Given the description of an element on the screen output the (x, y) to click on. 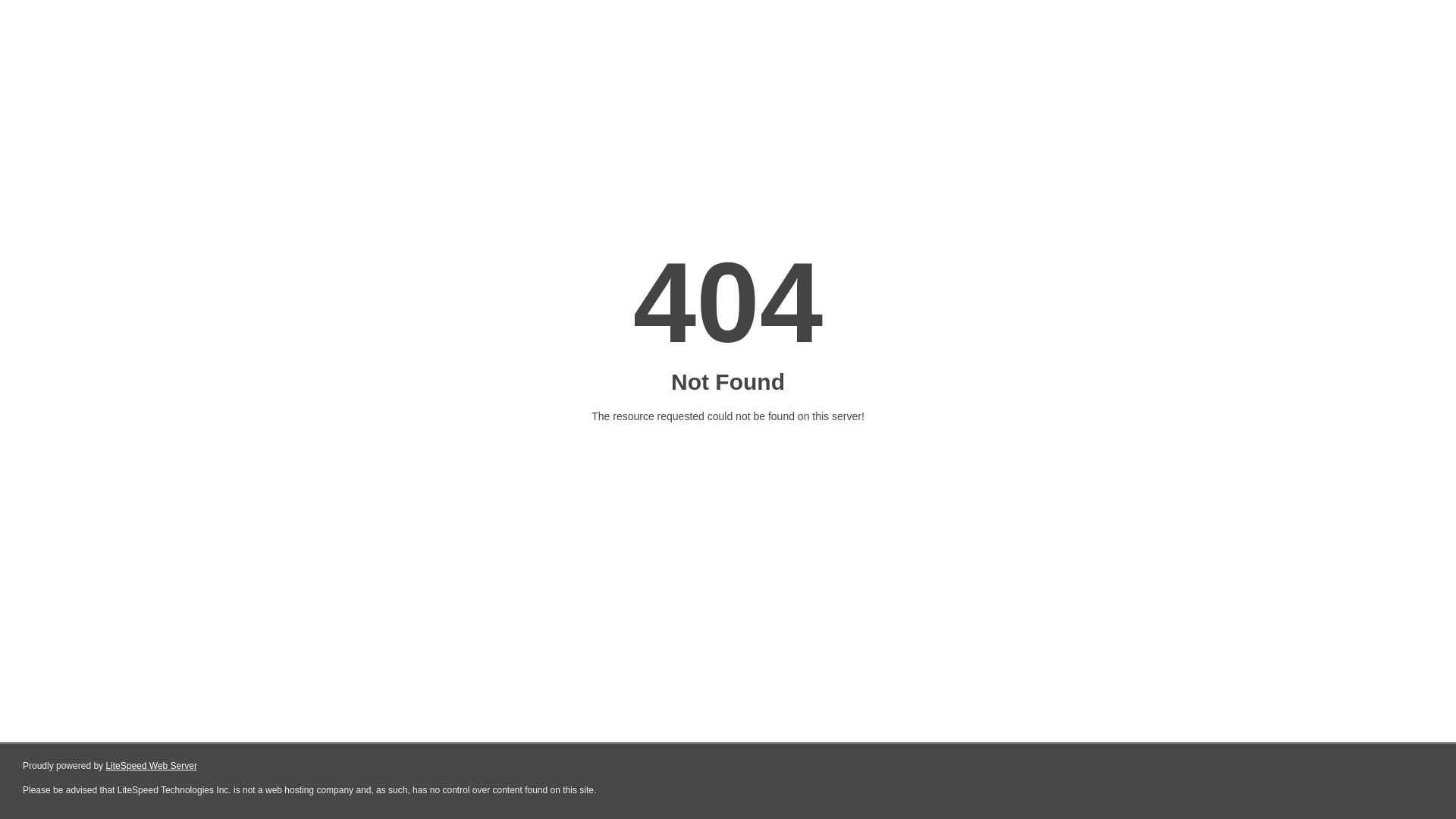
LiteSpeed Web Server Element type: text (151, 765)
